Given the description of an element on the screen output the (x, y) to click on. 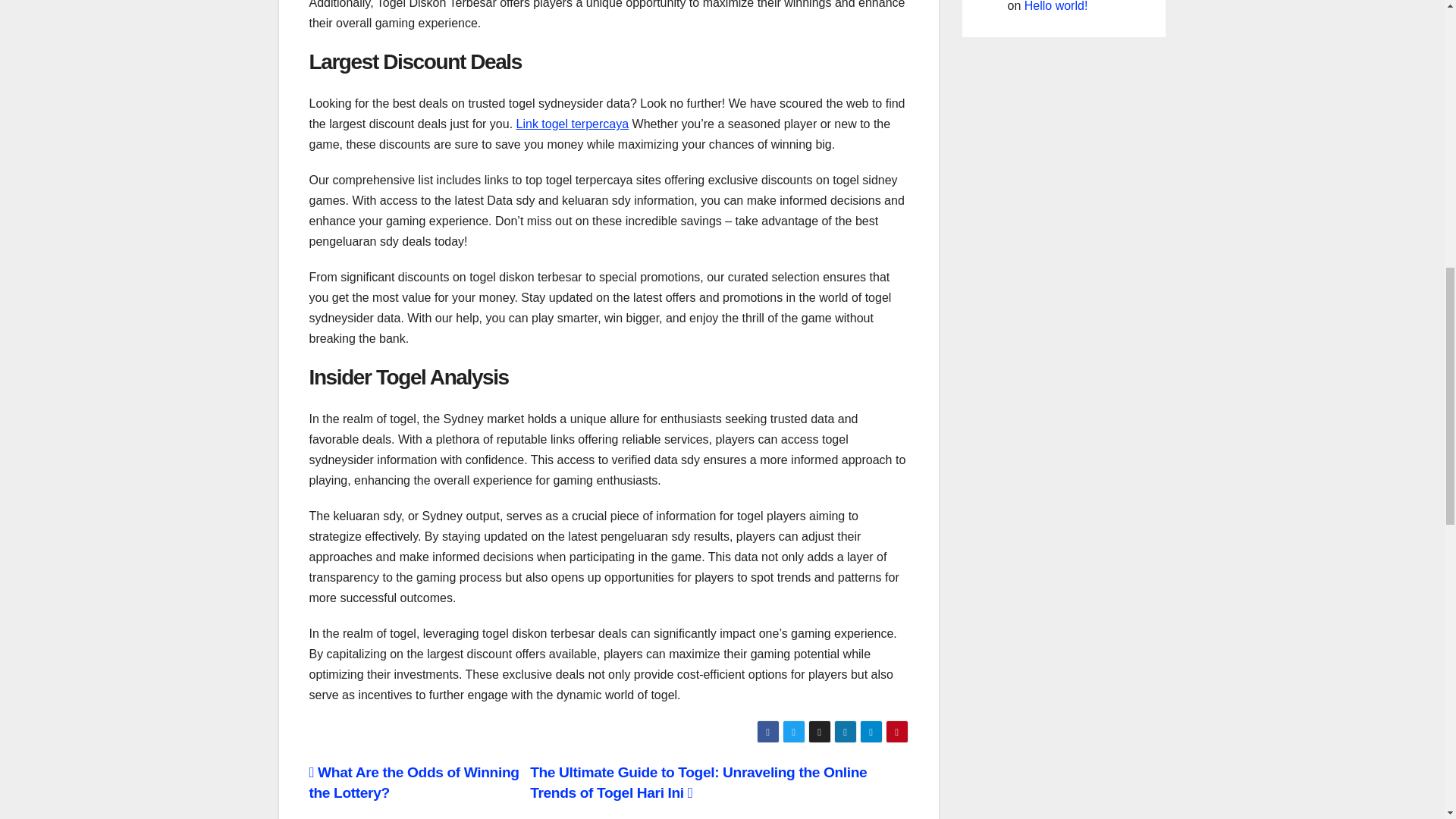
Link togel terpercaya (572, 123)
What Are the Odds of Winning the Lottery? (413, 782)
